Given the description of an element on the screen output the (x, y) to click on. 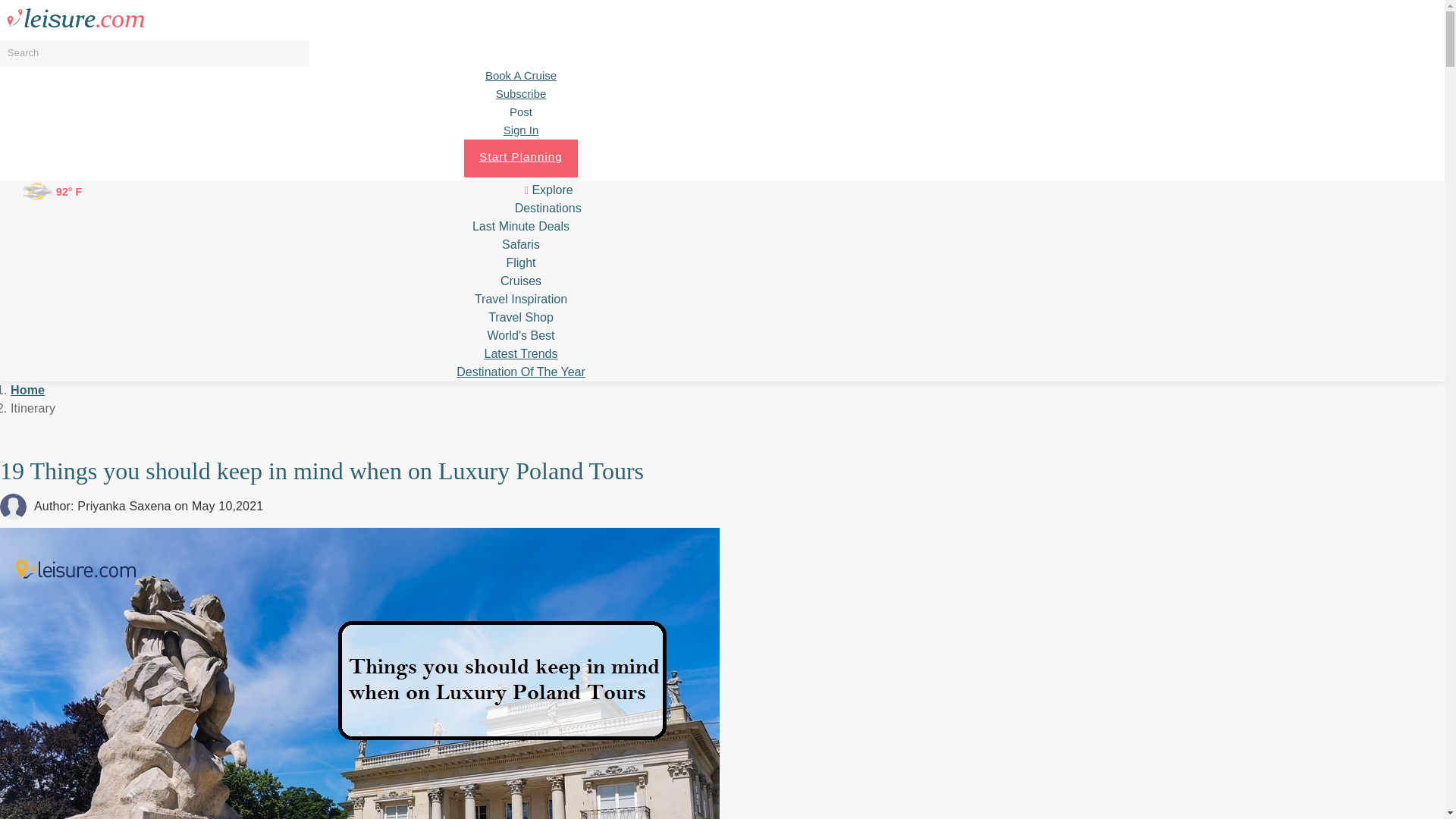
Sign In (520, 130)
Start Planning (520, 158)
Subscribe (521, 94)
Post (520, 112)
Book A Cruise (520, 76)
